Given the description of an element on the screen output the (x, y) to click on. 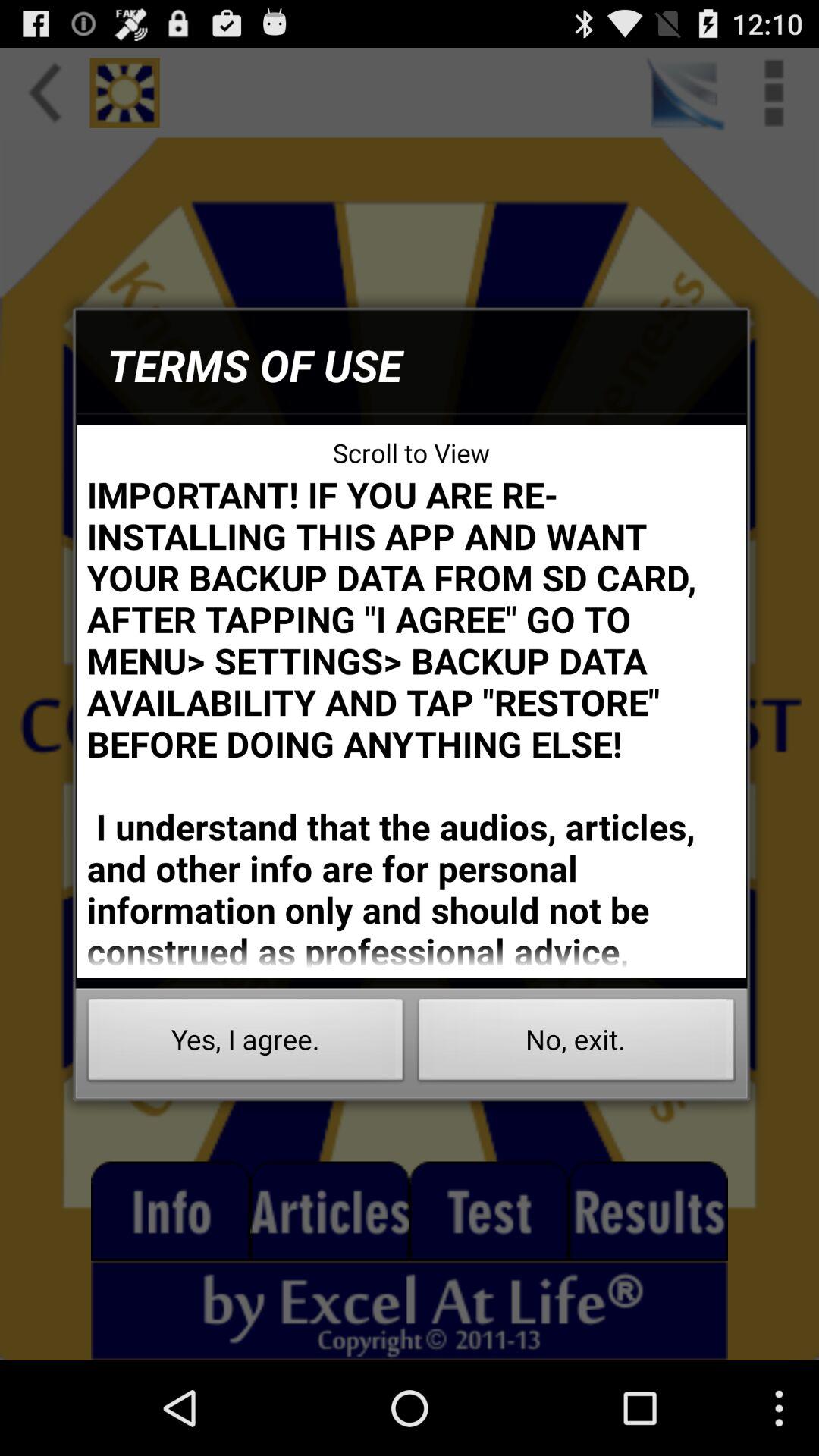
launch the item to the right of the yes, i agree. item (576, 1044)
